Given the description of an element on the screen output the (x, y) to click on. 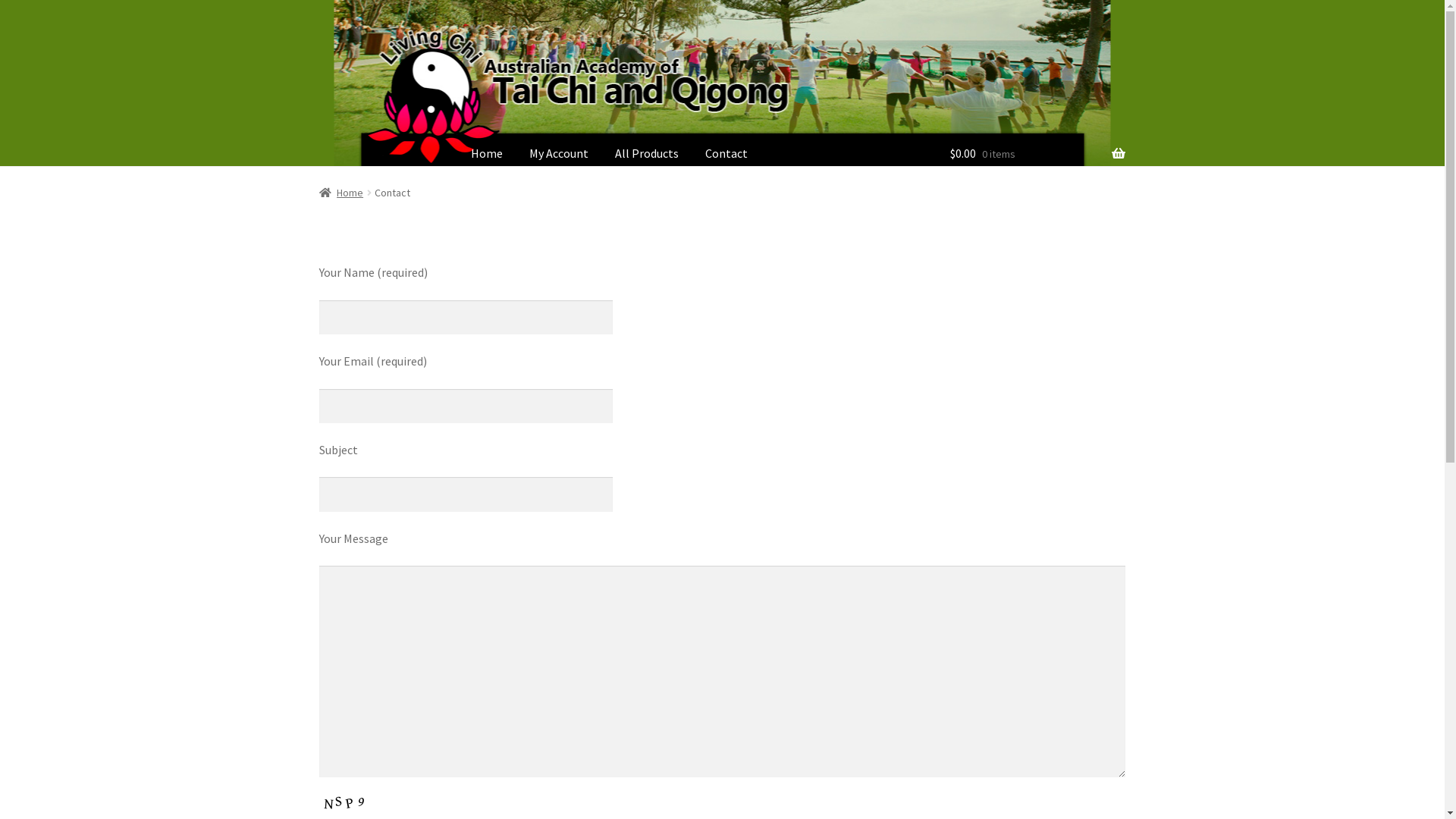
Home Element type: text (341, 192)
Contact Element type: text (726, 154)
All Products Element type: text (646, 154)
$0.00 0 items Element type: text (1037, 154)
Home Element type: text (486, 154)
Skip to navigation Element type: text (318, 31)
My Account Element type: text (558, 154)
